Given the description of an element on the screen output the (x, y) to click on. 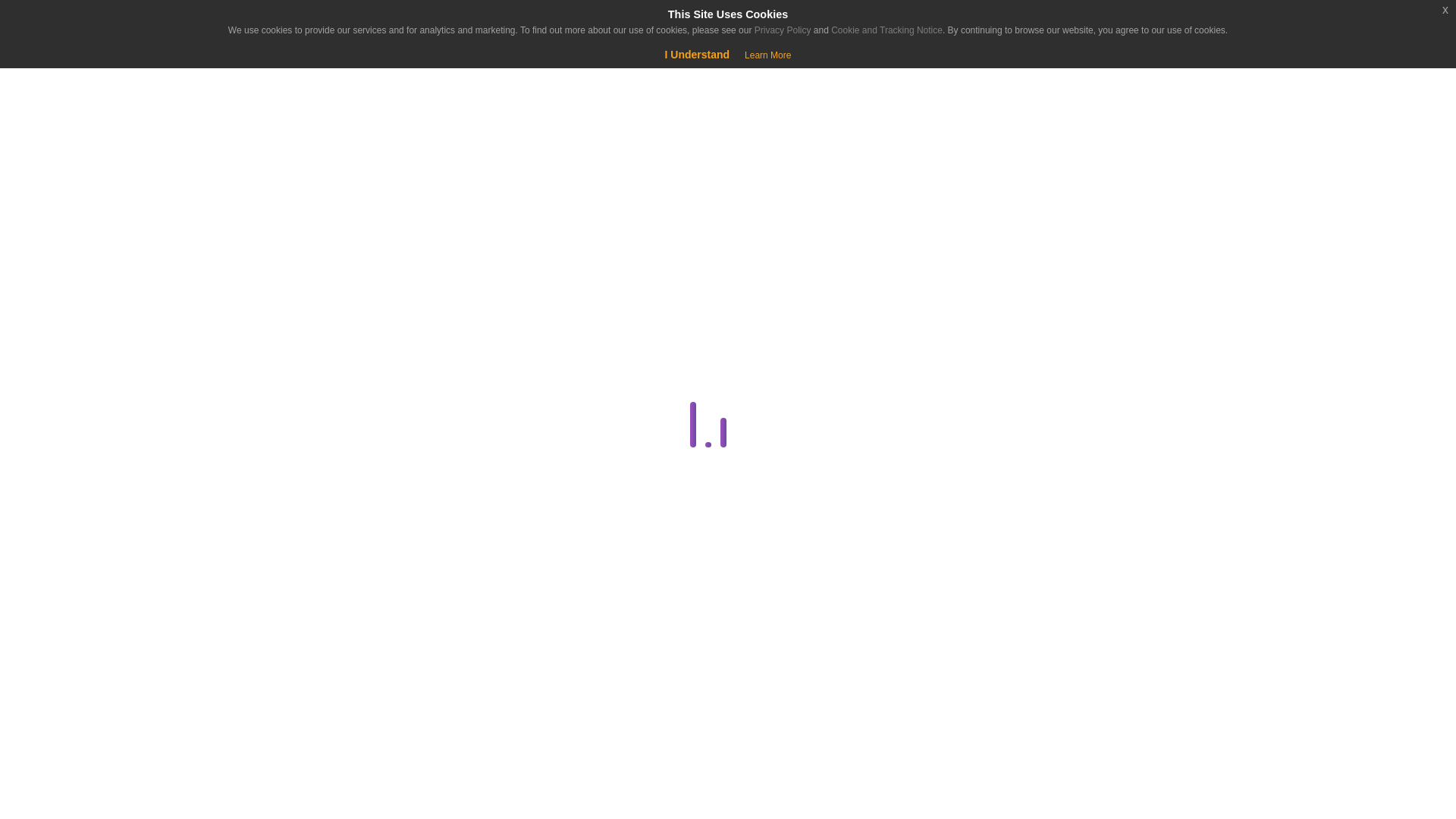
Hosting Dashboard (281, 713)
Domains API (283, 567)
Affiliates (283, 312)
Hesab (93, 23)
Linux Administration (281, 750)
Home (94, 138)
FTP (283, 640)
Domains and DNS (281, 531)
Billing (281, 349)
General (281, 677)
cPanel (281, 422)
Email (281, 604)
Colocation Guides (283, 385)
Shopping Cart (59, 76)
Qeydiyyat (129, 76)
